Given the description of an element on the screen output the (x, y) to click on. 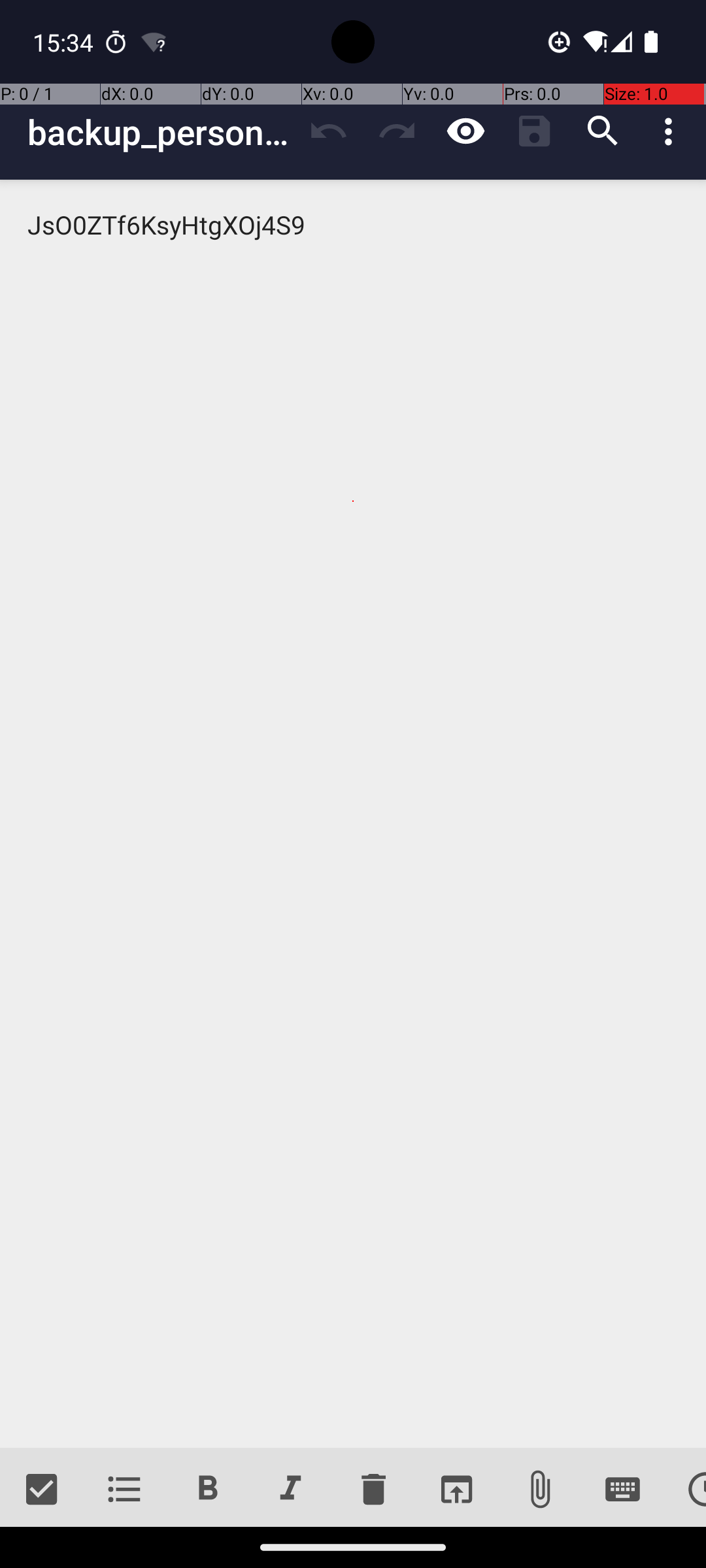
backup_personal_goals_2024 Element type: android.widget.TextView (160, 131)
JsO0ZTf6KsyHtgXOj4S9
 Element type: android.widget.EditText (353, 813)
